Given the description of an element on the screen output the (x, y) to click on. 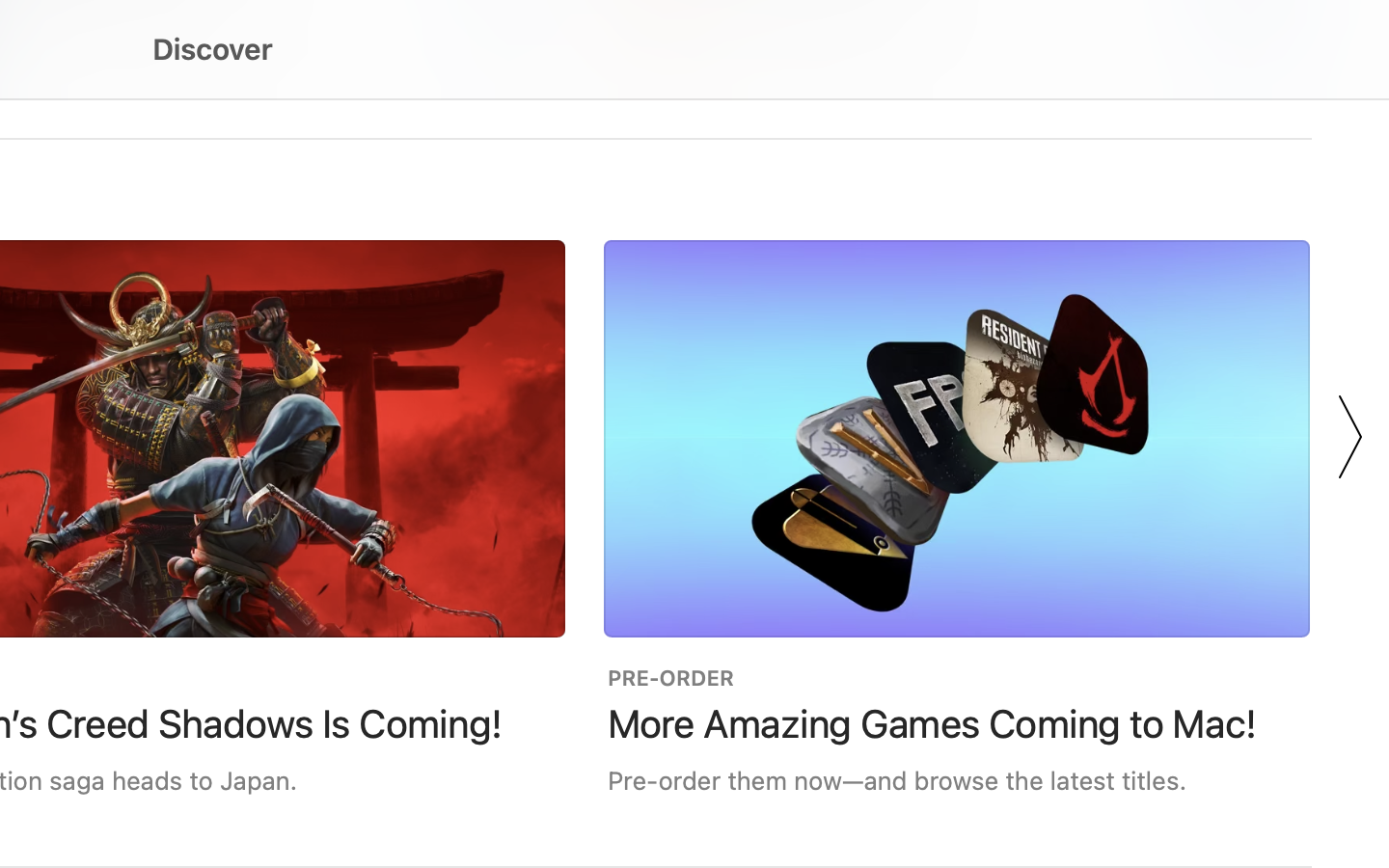
More Amazing Games Coming to Mac! Element type: AXStaticText (932, 723)
PRE-ORDER, More Amazing Games Coming to Mac, Pre-order them now—and browse the latest titles Element type: AXStaticText (956, 516)
